Given the description of an element on the screen output the (x, y) to click on. 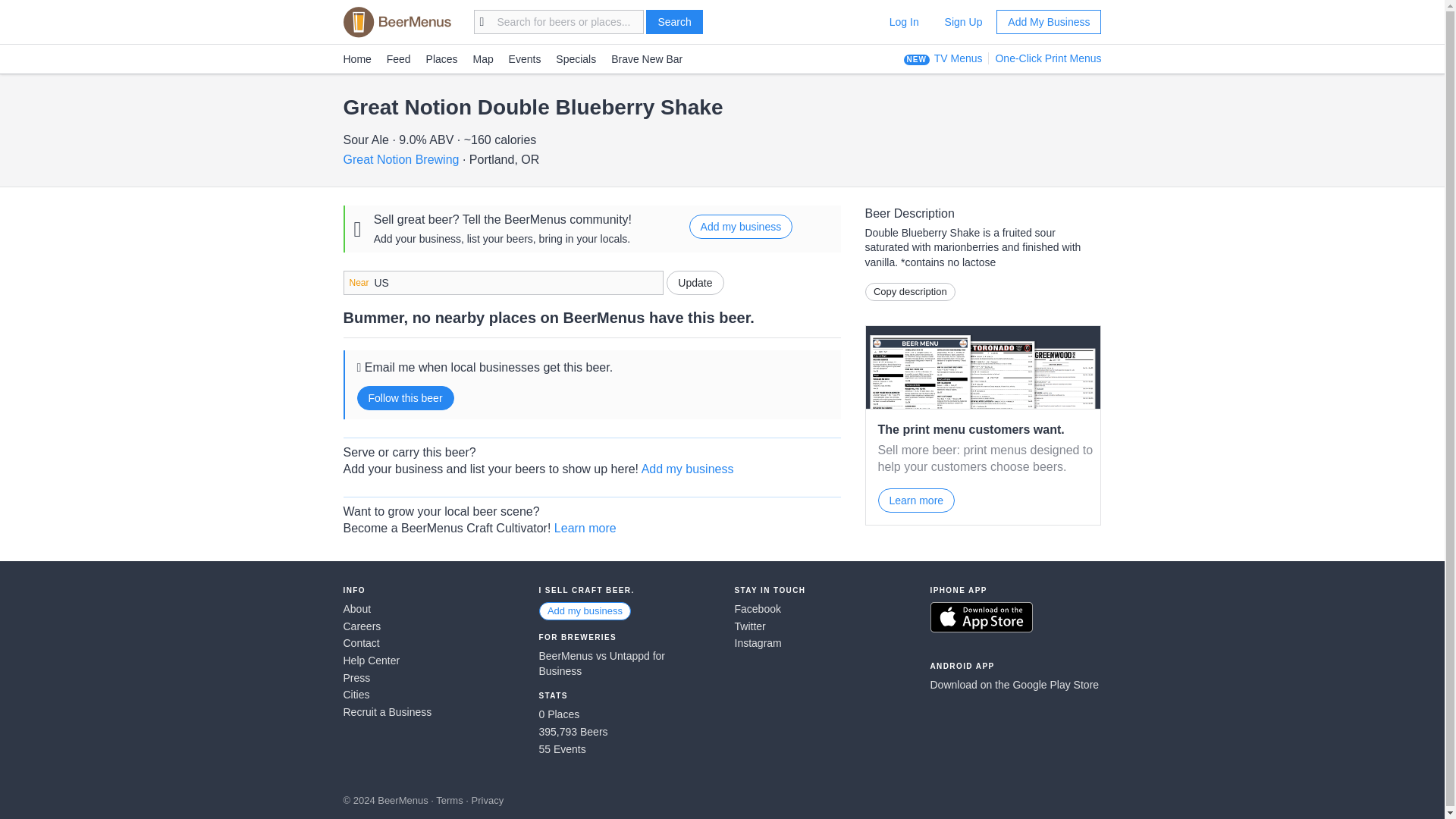
Add my business (584, 610)
US (502, 282)
Brave New Bar (646, 59)
Download on the Google Play Store (1015, 685)
Add My Business (1047, 21)
Follow this beer (404, 397)
Cities (427, 694)
Twitter (819, 626)
Contact (427, 643)
Update (694, 282)
Press (427, 678)
Great Notion Brewing (400, 159)
Update (694, 282)
Download on the App Store (981, 616)
Specials (575, 59)
